Given the description of an element on the screen output the (x, y) to click on. 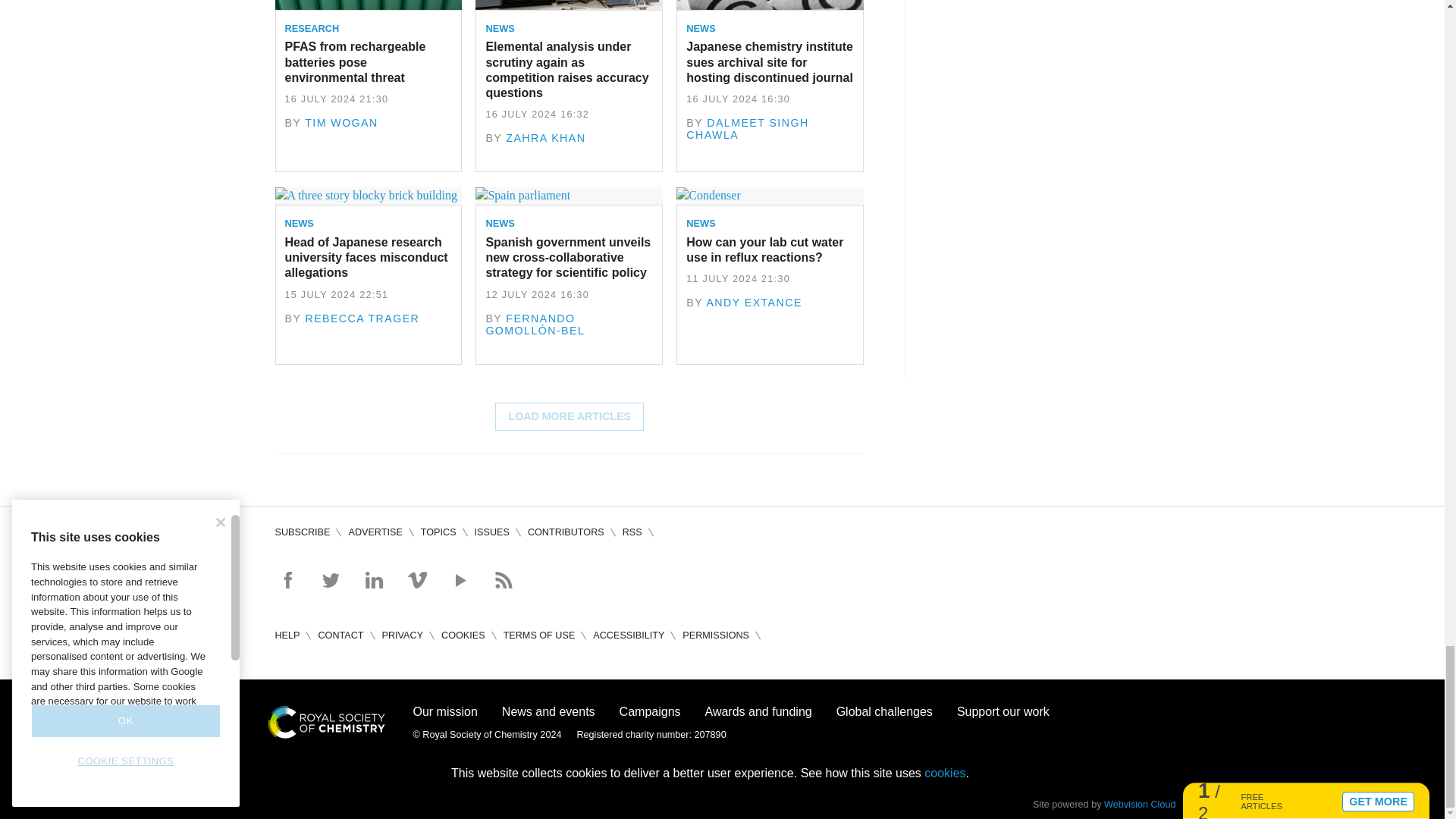
Follow on Facebook (287, 579)
Follow on Twitter (330, 579)
